Given the description of an element on the screen output the (x, y) to click on. 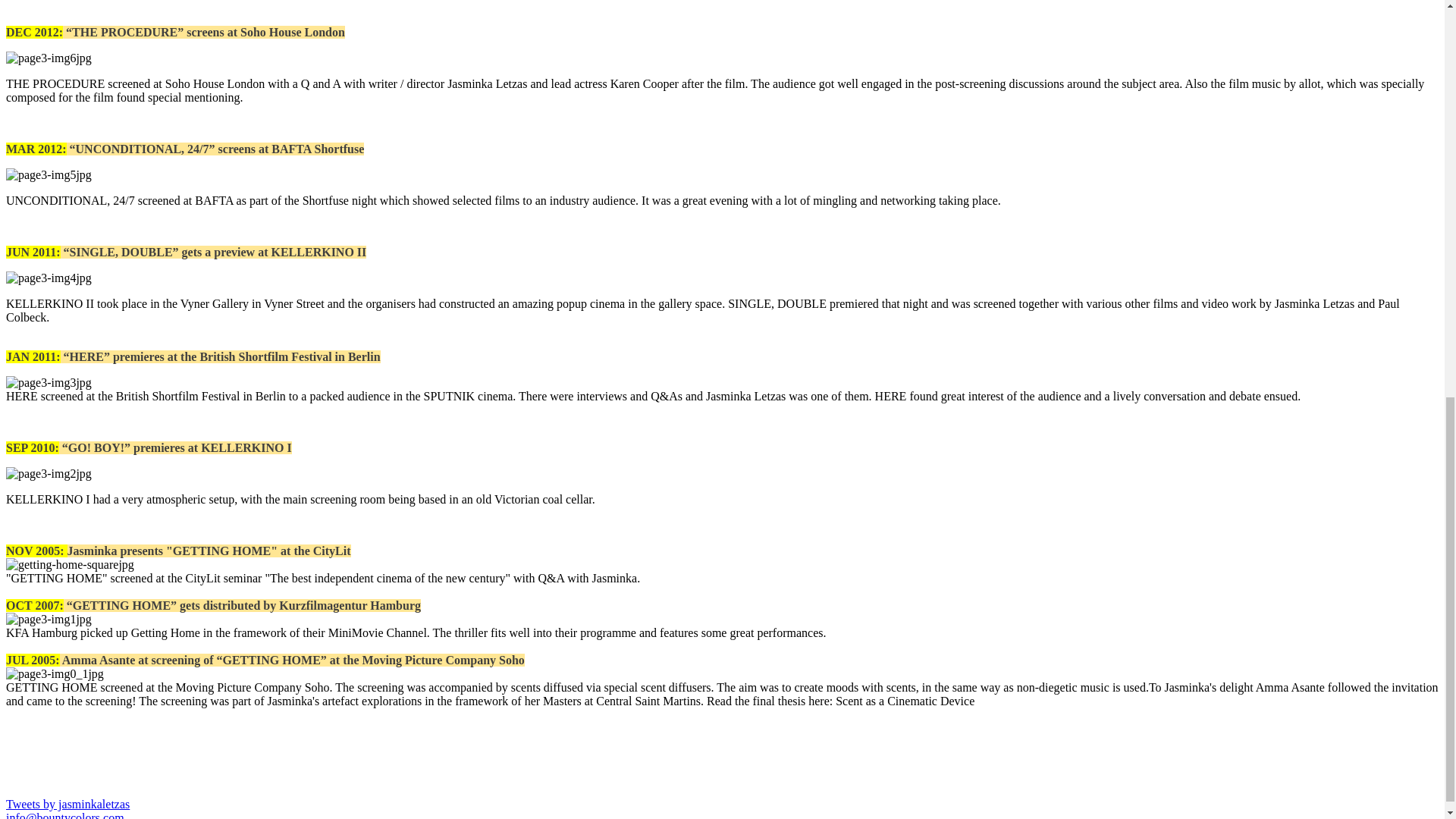
Tweets by jasminkaletzas (67, 803)
